Given the description of an element on the screen output the (x, y) to click on. 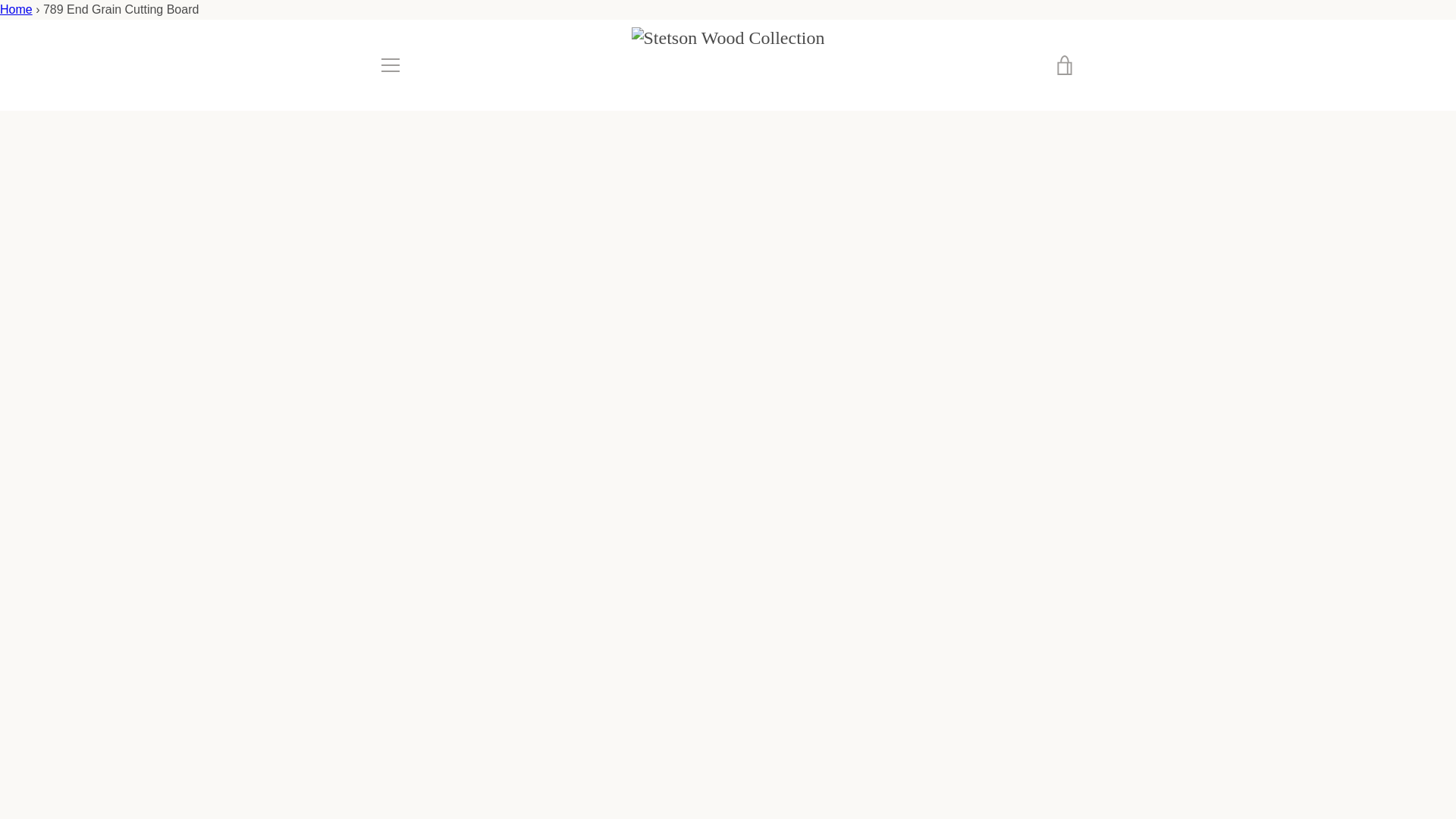
Home (16, 9)
Home (16, 9)
VIEW CART (1065, 64)
EXPAND NAVIGATION (390, 64)
